Given the description of an element on the screen output the (x, y) to click on. 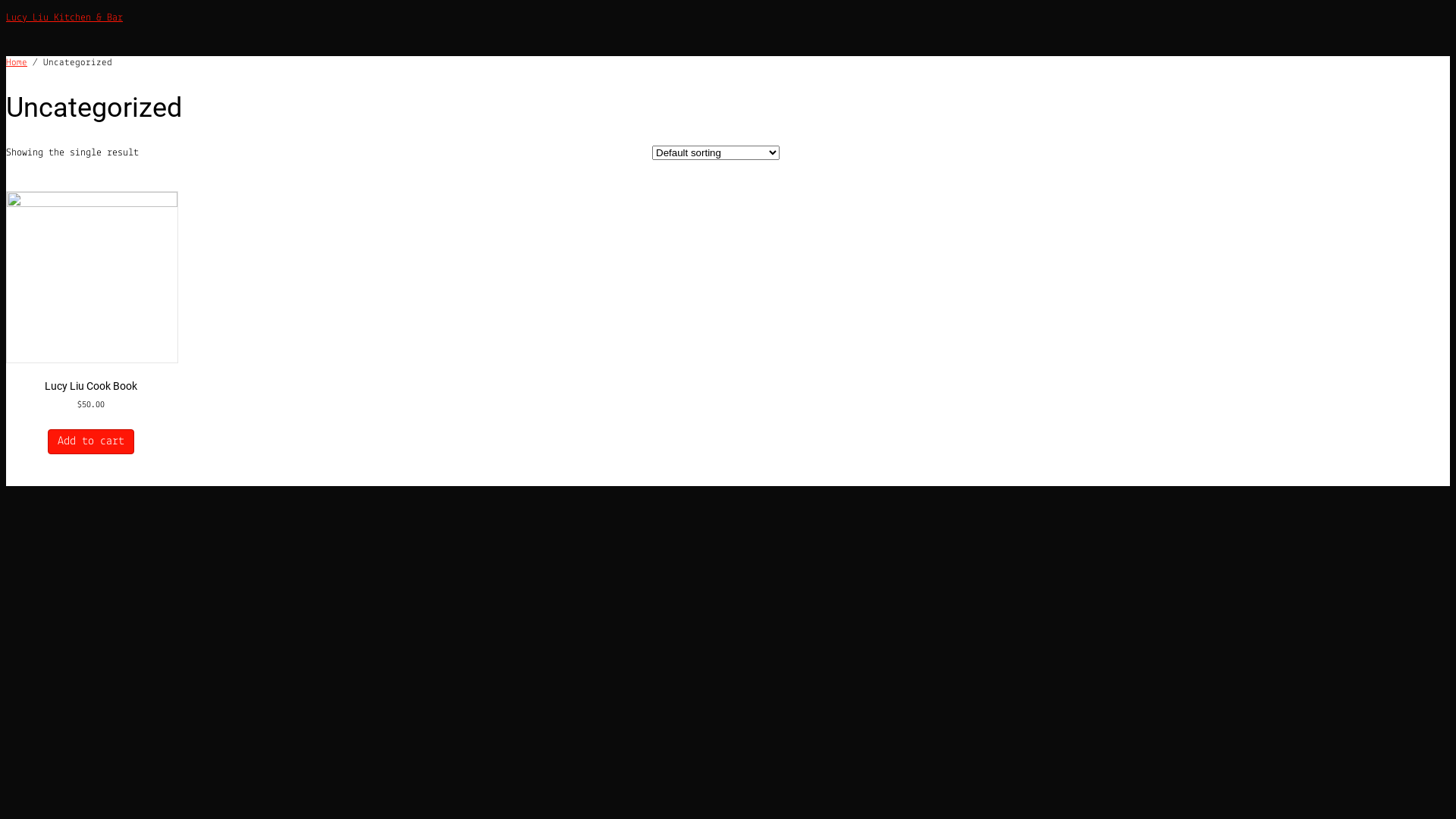
Lucy Liu Kitchen & Bar Element type: text (64, 17)
Add to cart Element type: text (90, 441)
Home Element type: text (16, 62)
Lucy Liu Cook Book
$50.00 Element type: text (91, 319)
